Given the description of an element on the screen output the (x, y) to click on. 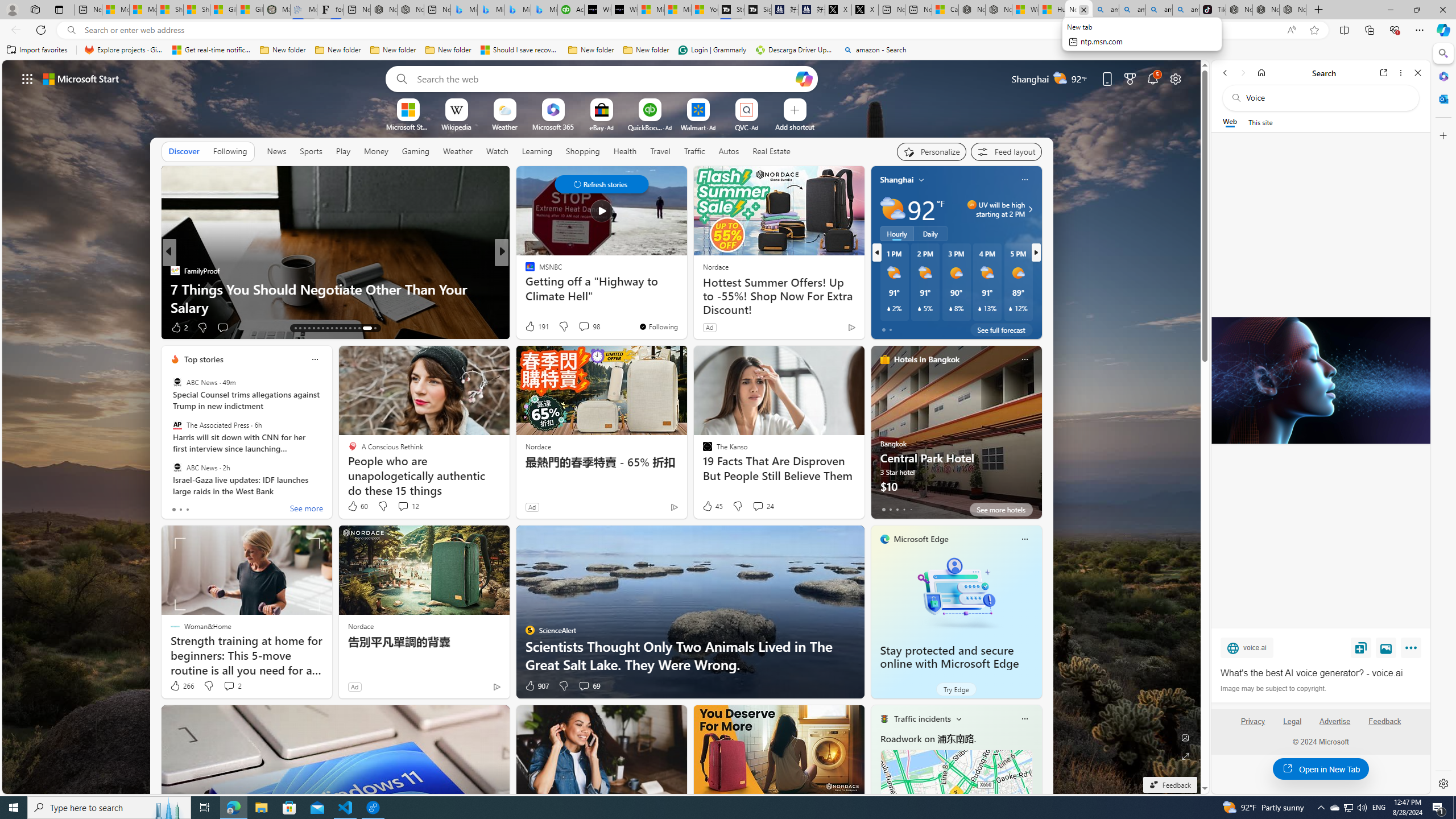
Privacy (1252, 725)
Shanghai (896, 179)
Learning (536, 151)
Daily (929, 233)
60 Like (357, 505)
tab-2 (897, 509)
Money (376, 151)
TikTok (1211, 9)
Hourly (896, 233)
Outlook (1442, 98)
